Given the description of an element on the screen output the (x, y) to click on. 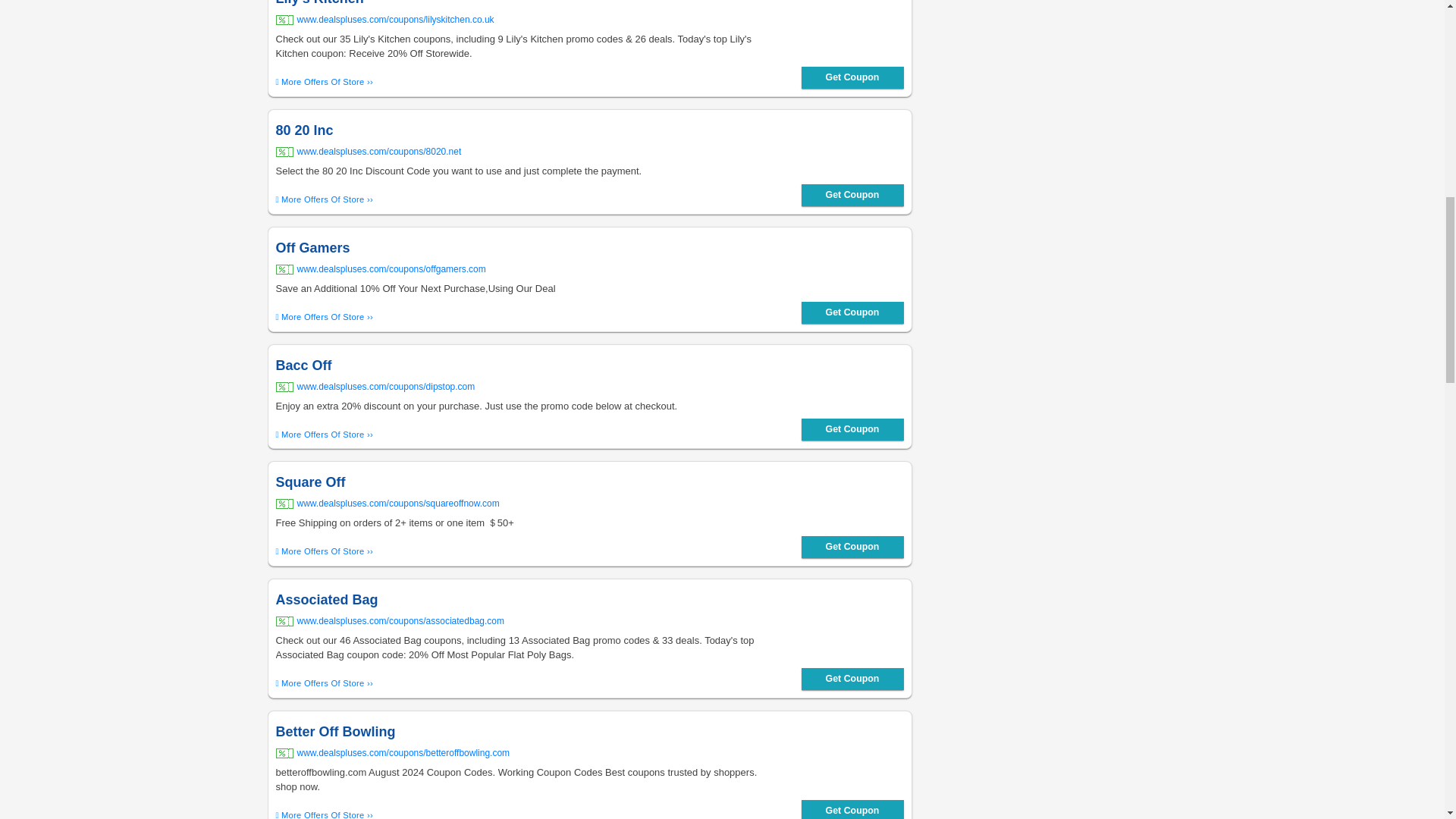
Lily's Kitchen (525, 19)
Lily's Kitchen (525, 4)
Lily's Kitchen (324, 82)
